Given the description of an element on the screen output the (x, y) to click on. 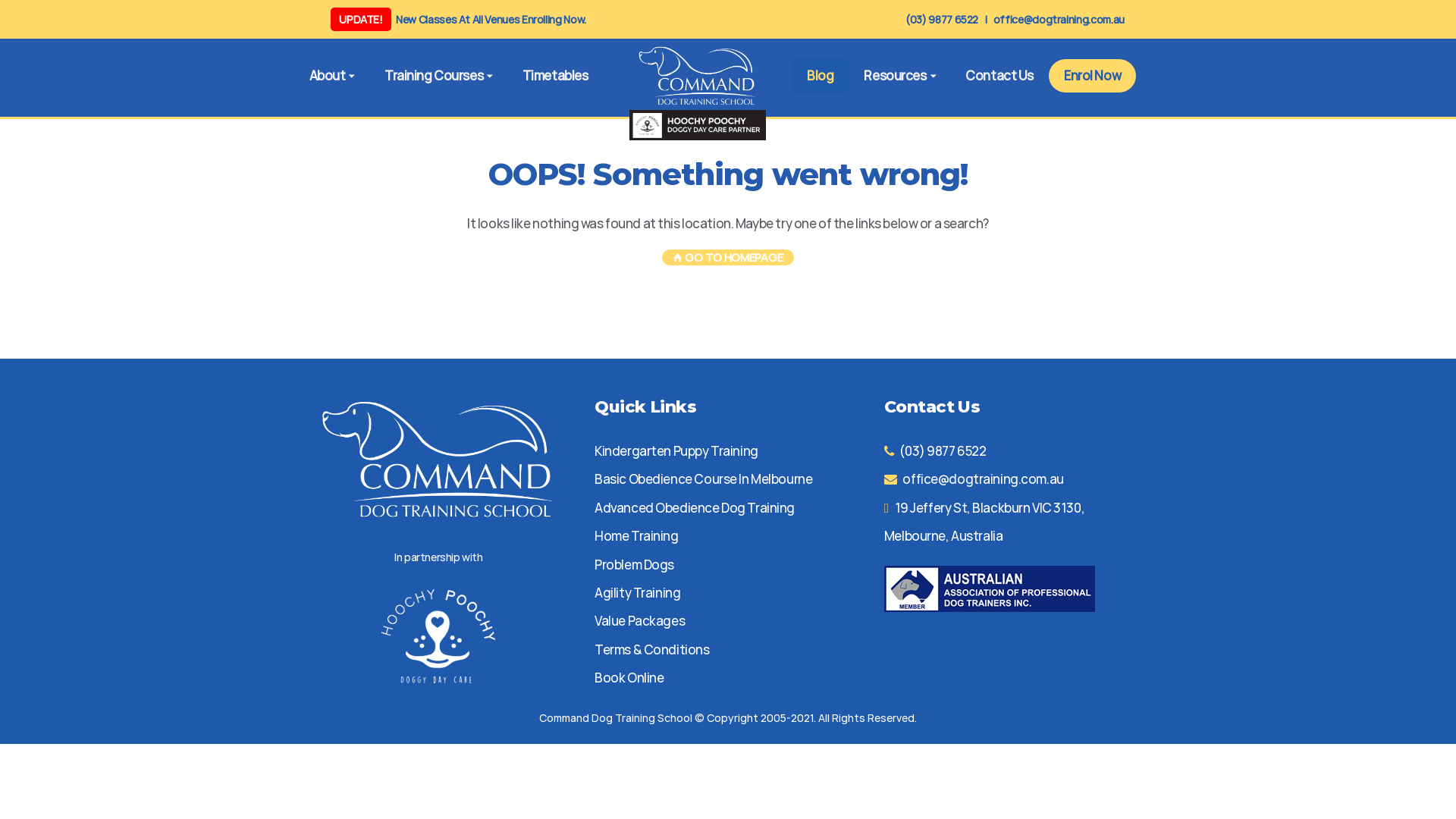
(03) 9877 6522 Element type: text (942, 450)
About Element type: text (331, 75)
Book Online Element type: text (628, 677)
Training Courses Element type: text (438, 75)
Terms & Conditions Element type: text (651, 649)
Kindergarten Puppy Training Element type: text (676, 450)
GO TO HOMEPAGE Element type: text (728, 256)
UPDATE! Element type: text (360, 19)
(03) 9877 6522 Element type: text (941, 19)
Home Training Element type: text (635, 535)
Contact Us Element type: text (999, 75)
Basic Obedience Course In Melbourne Element type: text (703, 478)
Problem Dogs Element type: text (634, 564)
office@dogtraining.com.au Element type: text (1058, 19)
Agility Training Element type: text (637, 592)
Value Packages Element type: text (639, 620)
Advanced Obedience Dog Training Element type: text (694, 507)
office@dogtraining.com.au Element type: text (982, 478)
Resources Element type: text (899, 75)
Enrol Now Element type: text (1091, 75)
Timetables Element type: text (555, 75)
Blog Element type: text (819, 75)
